Given the description of an element on the screen output the (x, y) to click on. 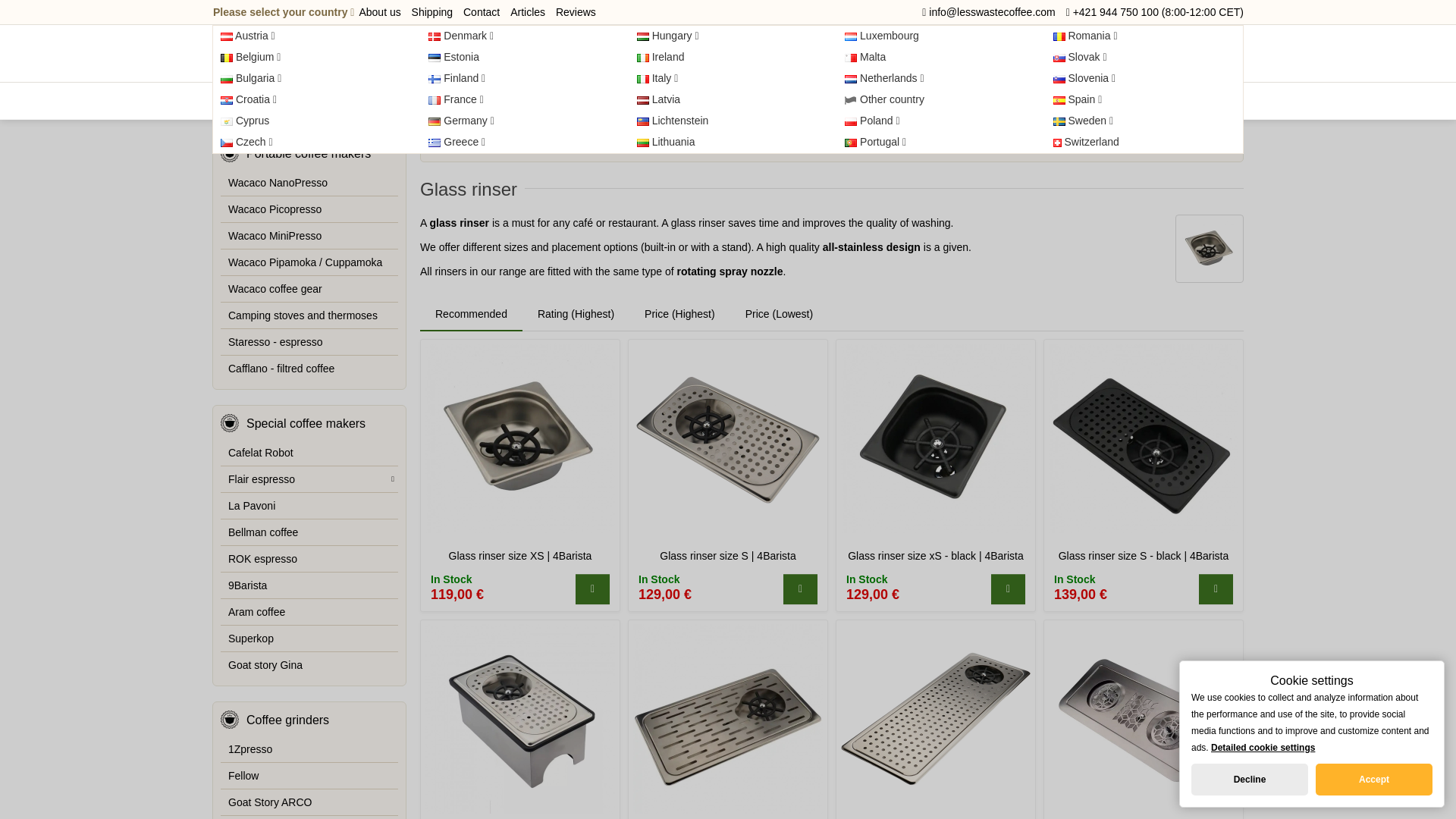
Portugal (935, 142)
Germany (434, 121)
Romania (1144, 35)
Netherlands (935, 78)
Czech (226, 142)
Luxembourg (935, 35)
Slovak (1144, 56)
Estonia (518, 56)
Lithuania (643, 142)
Poland (935, 120)
